Given the description of an element on the screen output the (x, y) to click on. 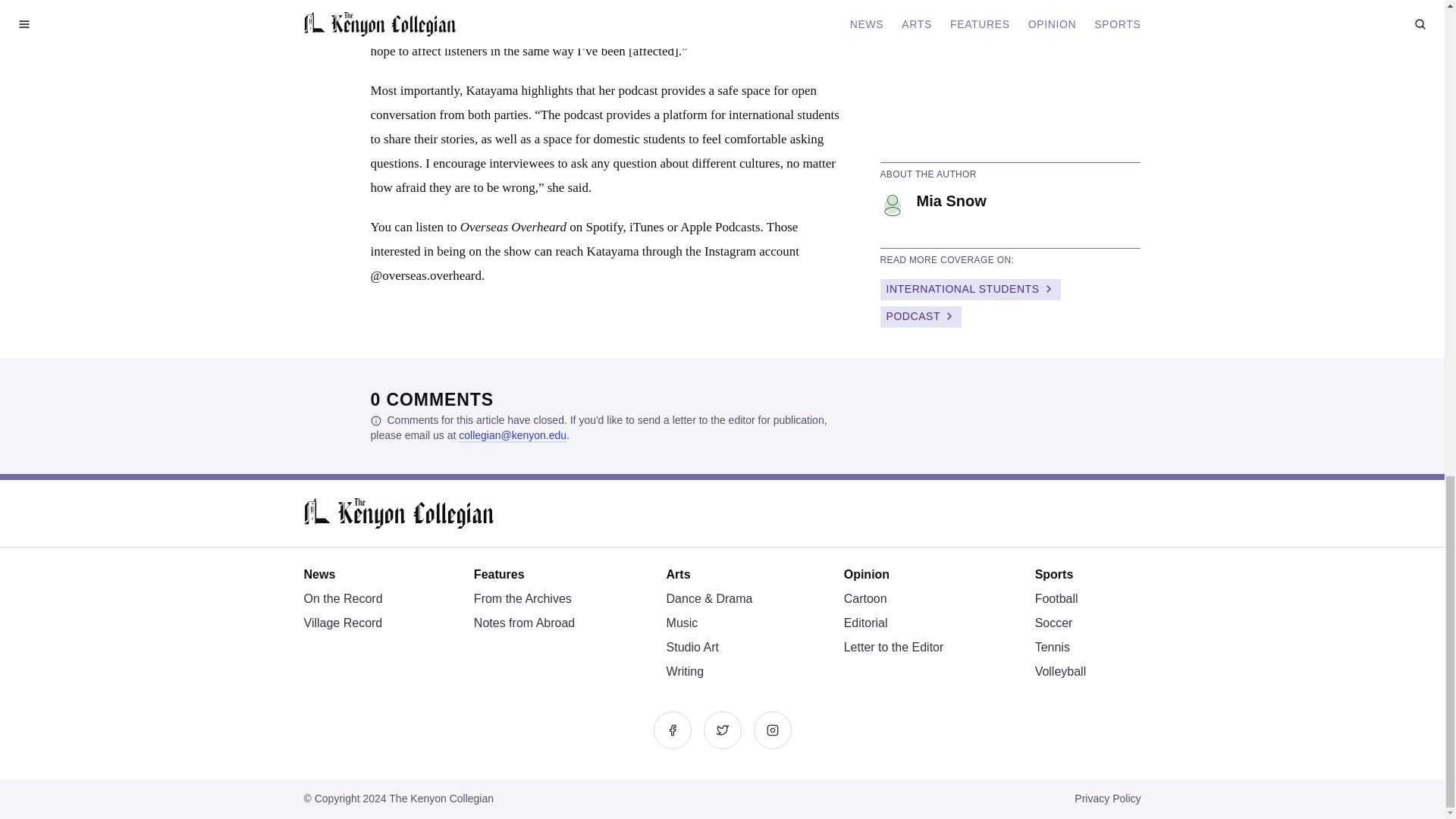
Village Record (341, 622)
PODCAST (919, 316)
Features (499, 574)
News (318, 574)
On the Record (341, 598)
INTERNATIONAL STUDENTS (970, 289)
From the Archives (523, 598)
Arts (678, 574)
Notes from Abroad (524, 622)
